Given the description of an element on the screen output the (x, y) to click on. 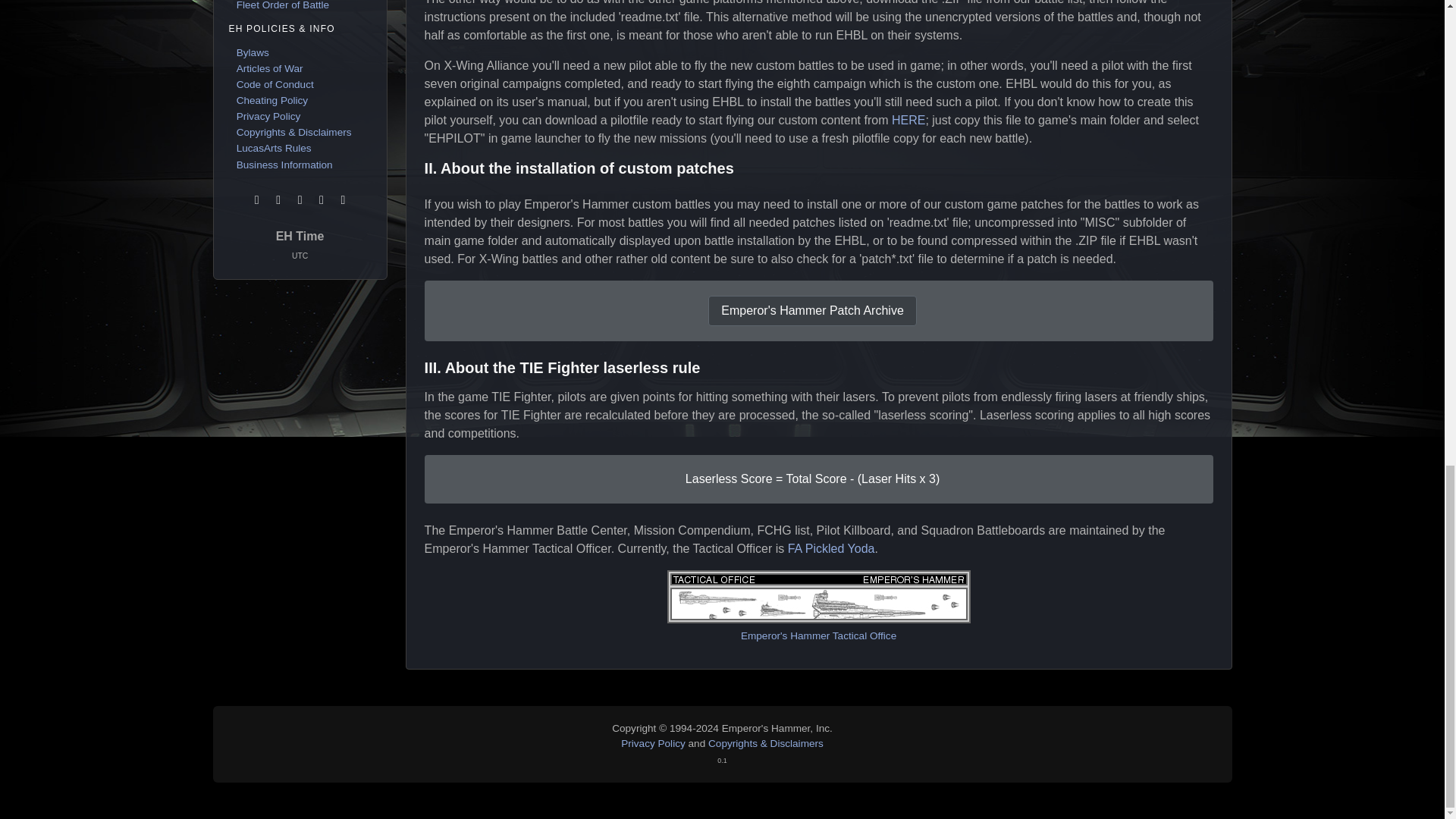
Emperor's Hammer YouTube (342, 199)
Emperor's Hammer Facebook (279, 199)
Emperor's Hammer Discord (258, 199)
Emperor's Hammer Twitter (302, 199)
Emperor's Hammer Instagram (323, 199)
